Given the description of an element on the screen output the (x, y) to click on. 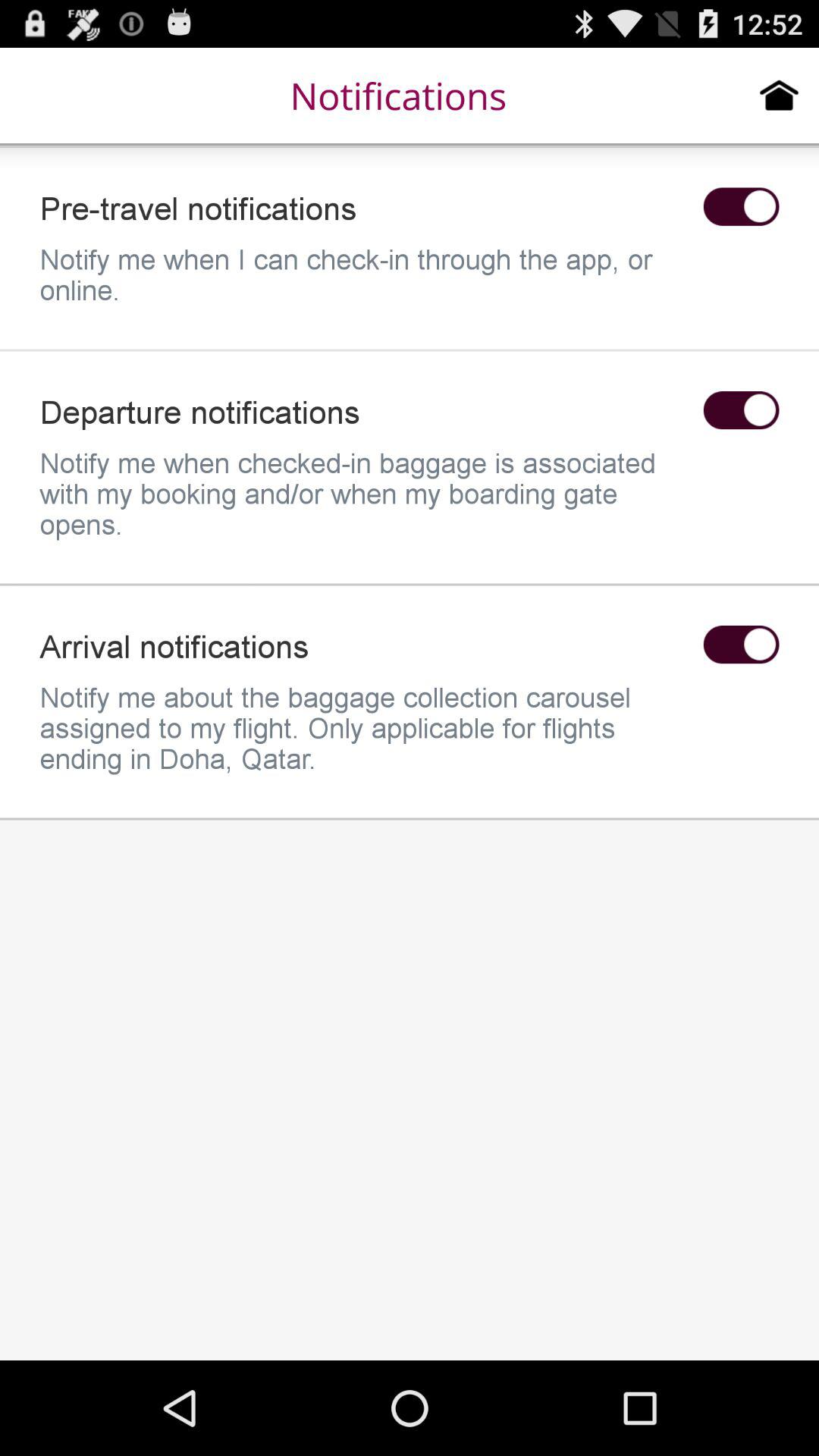
go to homescreen (779, 95)
